Given the description of an element on the screen output the (x, y) to click on. 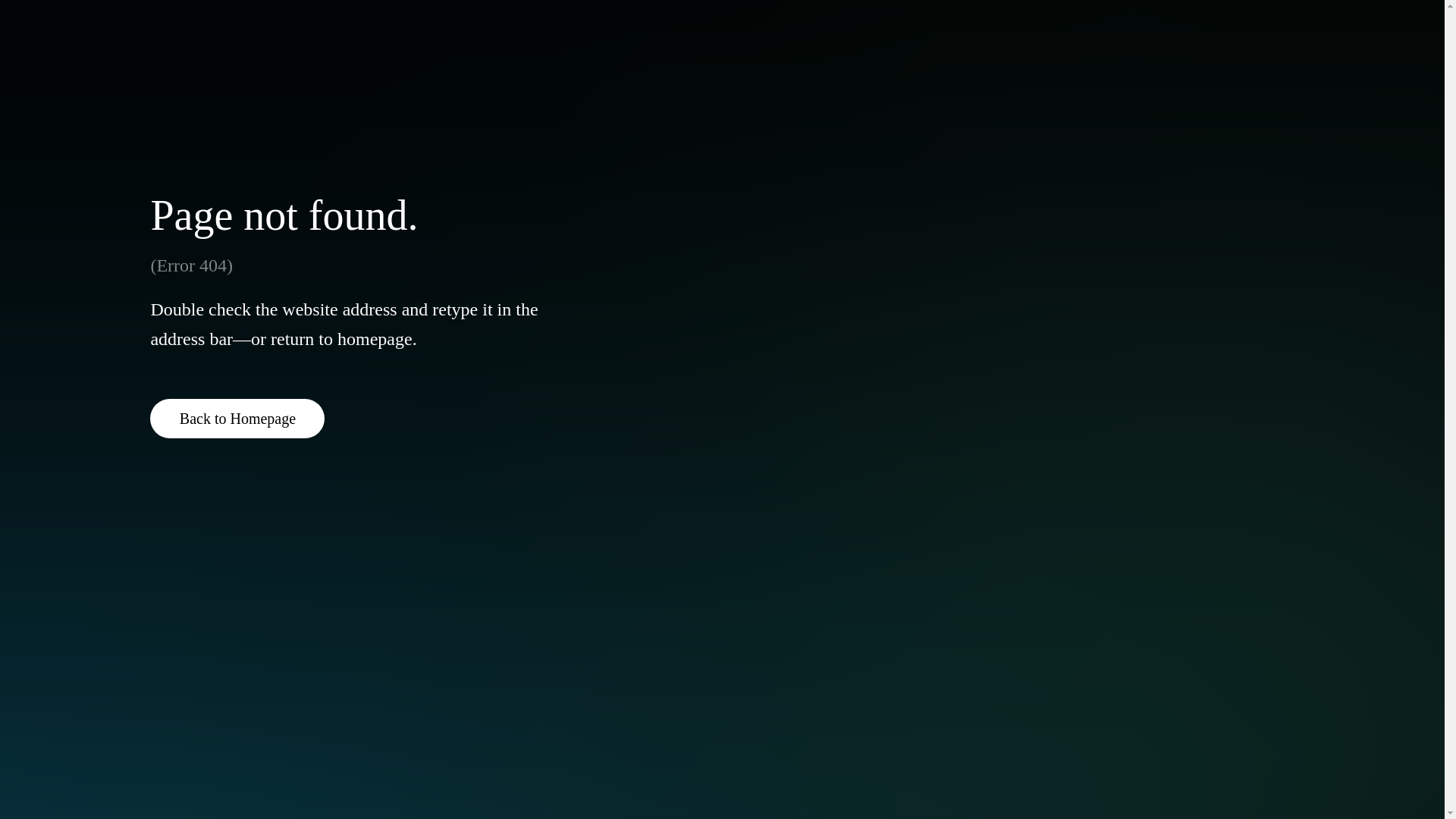
Back to Homepage (236, 418)
